Given the description of an element on the screen output the (x, y) to click on. 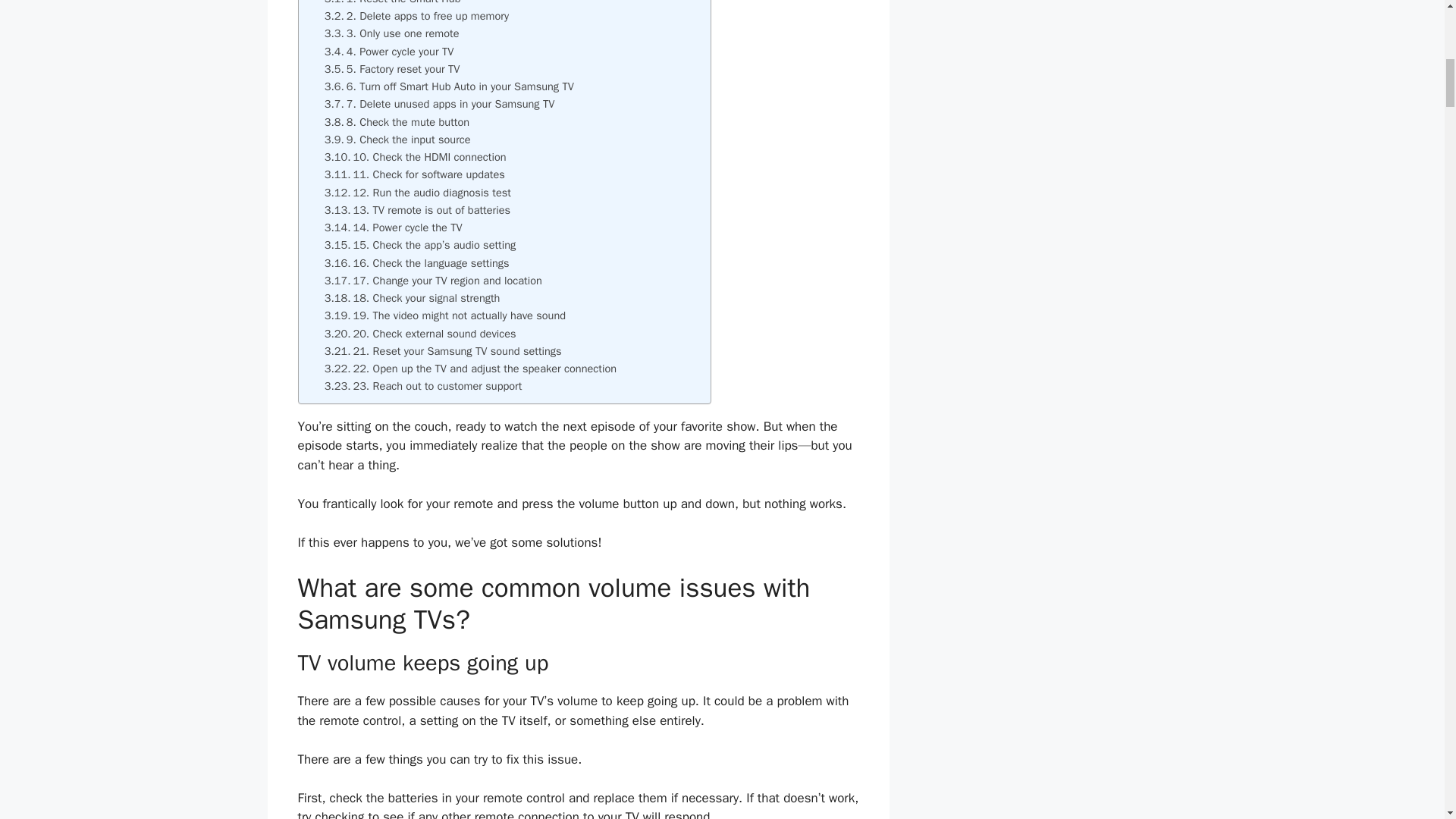
12. Run the audio diagnosis test (417, 192)
1. Reset the Smart Hub (392, 3)
14. Power cycle the TV (393, 227)
4. Power cycle your TV (389, 51)
16. Check the language settings (416, 262)
8. Check the mute button (396, 122)
17. Change your TV region and location (432, 280)
5. Factory reset your TV (392, 68)
9. Check the input source (397, 139)
19. The video might not actually have sound (445, 315)
